Given the description of an element on the screen output the (x, y) to click on. 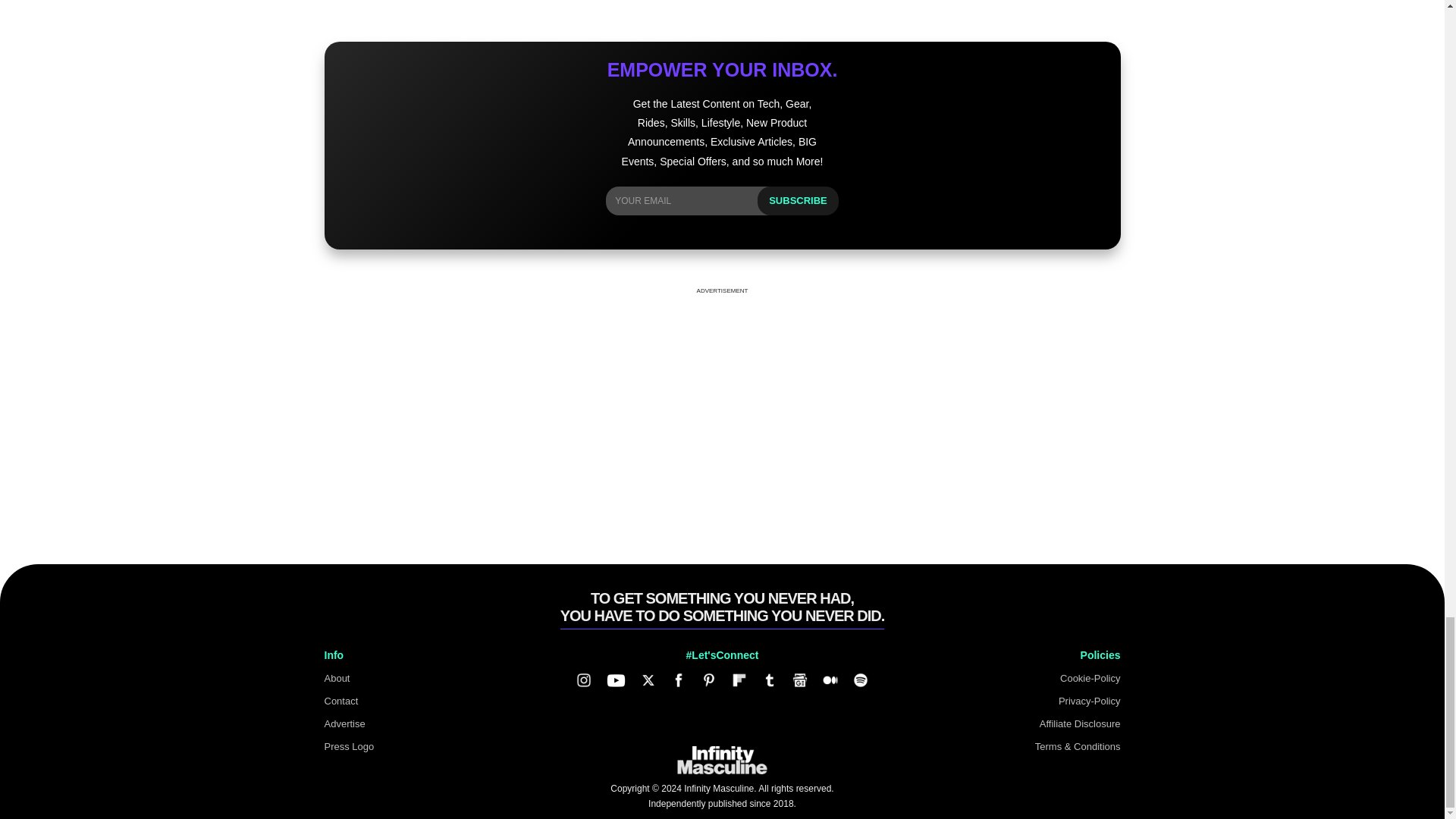
SUBSCRIBE (797, 200)
